Given the description of an element on the screen output the (x, y) to click on. 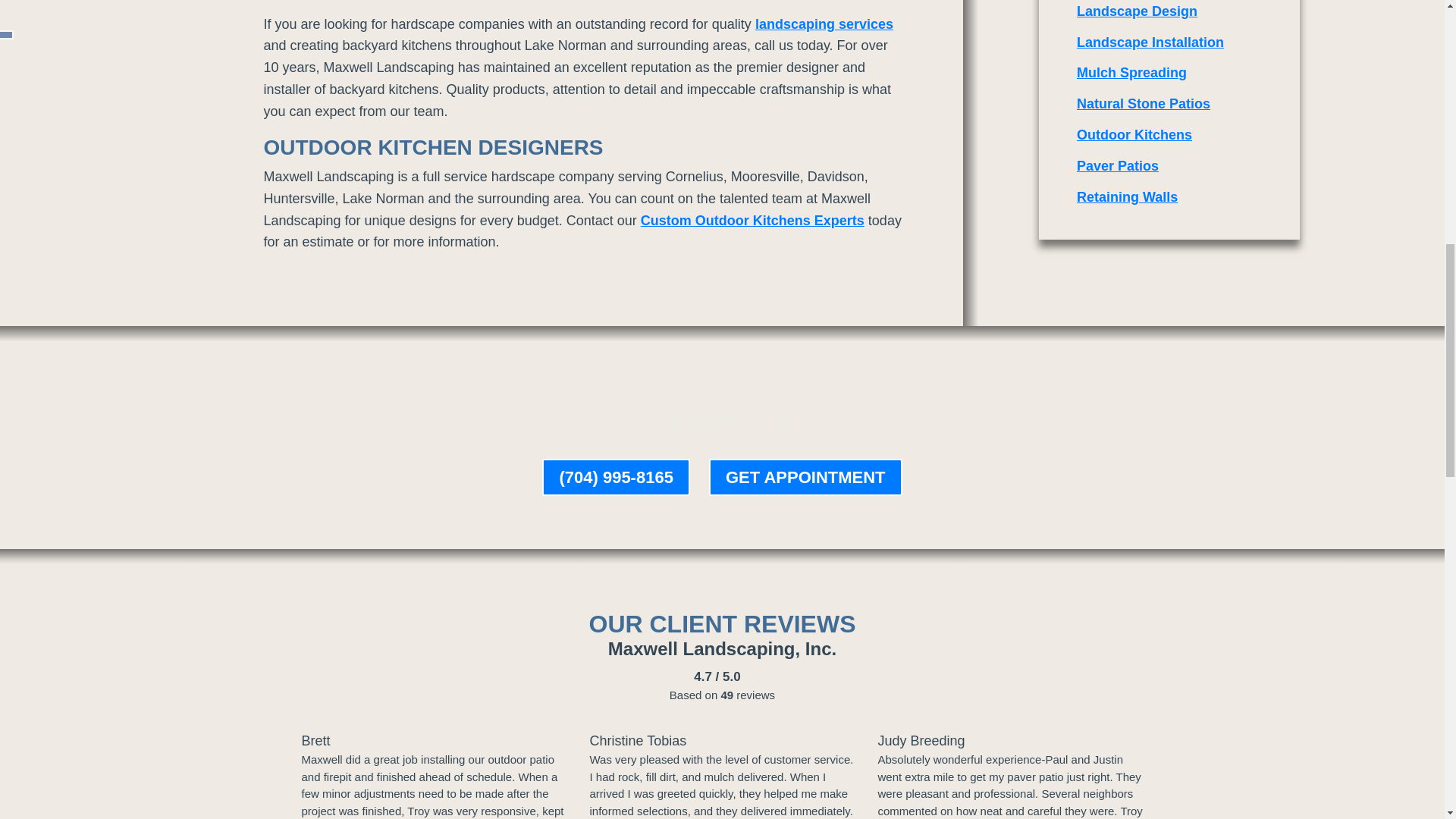
landscaping services (824, 23)
Custom Outdoor Kitchens Experts (752, 220)
Landscaping Services Davidson NC (824, 23)
Cornelius NC Outdoor Kitchen Contractors (752, 220)
